Given the description of an element on the screen output the (x, y) to click on. 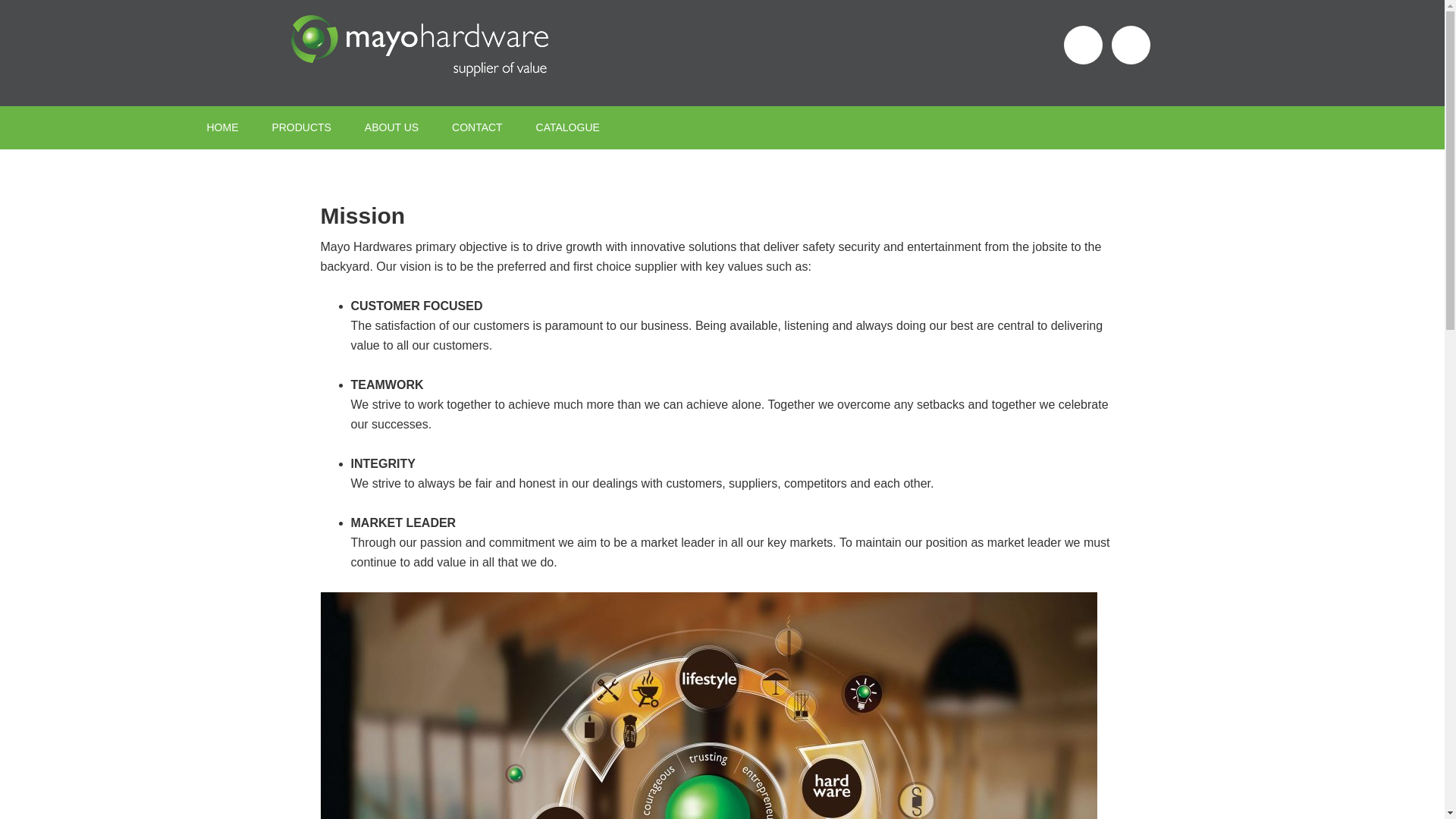
CONTACT (477, 127)
ABOUT US (391, 127)
HOME (221, 127)
MAYO HARDWARE (418, 52)
PRODUCTS (301, 127)
CATALOGUE (567, 127)
